Given the description of an element on the screen output the (x, y) to click on. 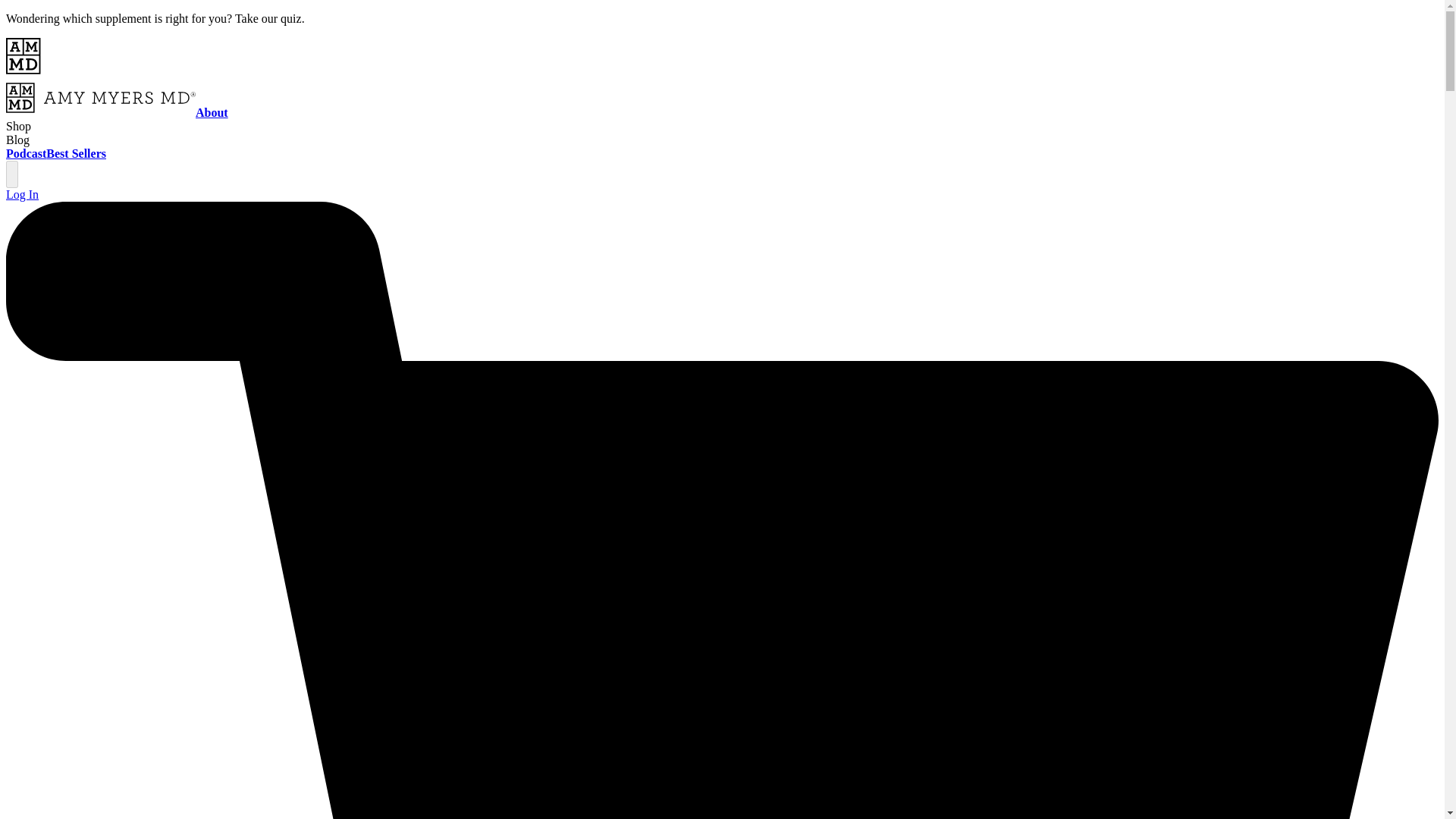
Podcast (25, 153)
Best Sellers (76, 153)
Log In (22, 194)
About (211, 112)
